Given the description of an element on the screen output the (x, y) to click on. 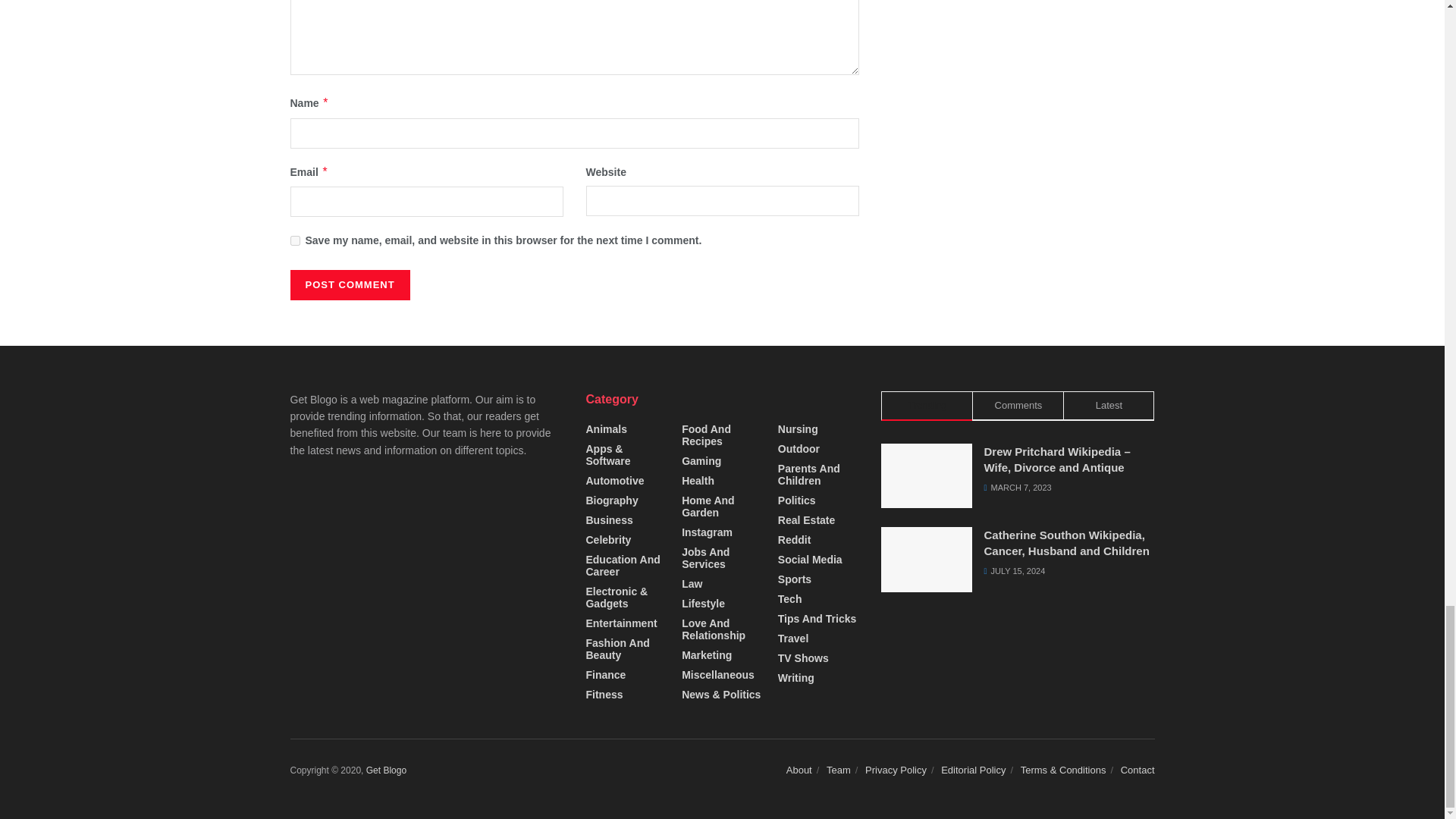
Post Comment (349, 285)
yes (294, 240)
